Given the description of an element on the screen output the (x, y) to click on. 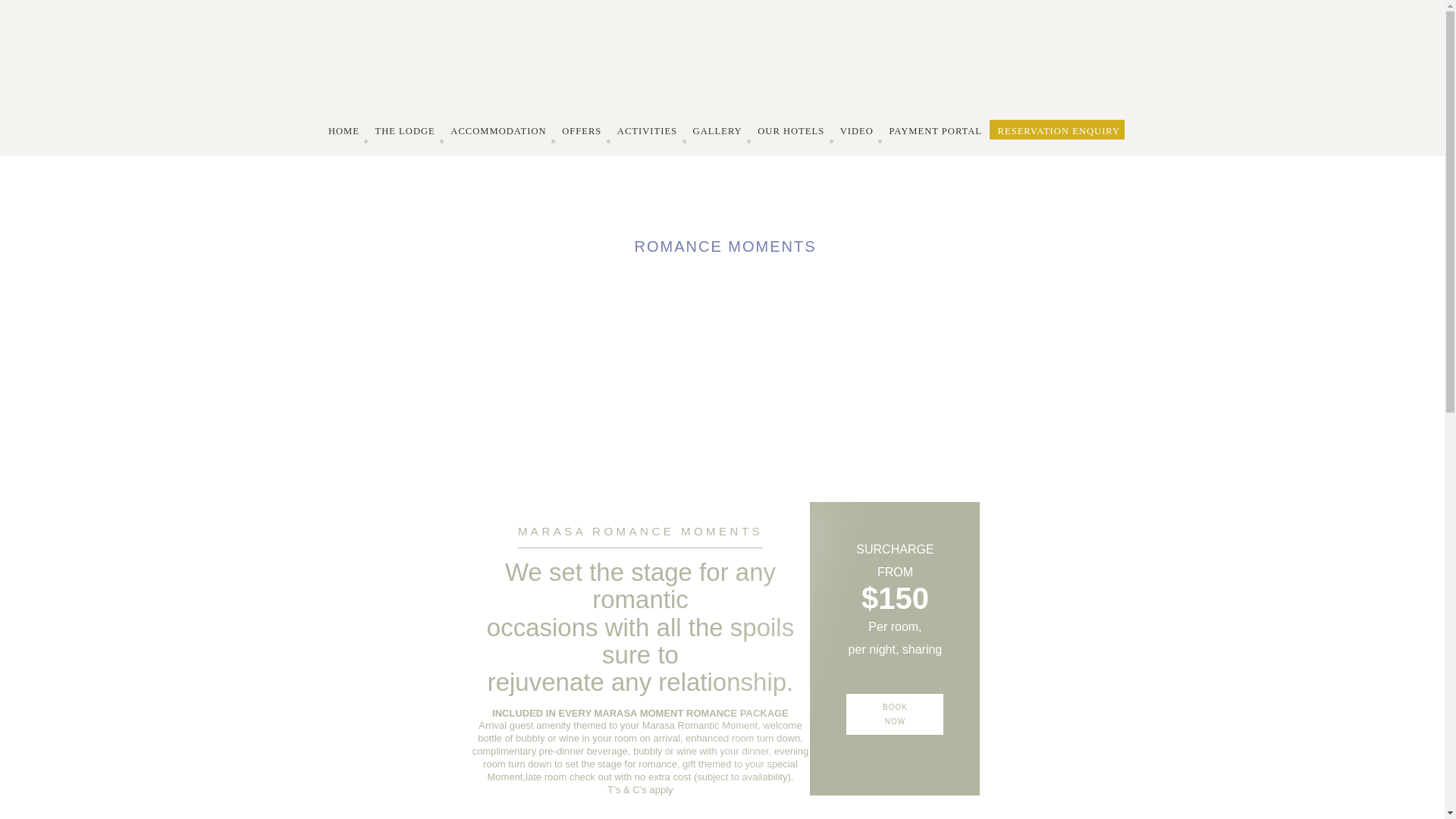
ACCOMMODATION (498, 131)
OFFERS (581, 131)
RESERVATION ENQUIRY (1059, 131)
PAYMENT PORTAL (935, 131)
THE LODGE (404, 131)
Mweya Safari Lodge (721, 99)
HOME (343, 131)
OUR HOTELS (791, 131)
ACTIVITIES (646, 131)
BOOK NOW (894, 713)
GALLERY (717, 131)
VIDEO (857, 131)
